Given the description of an element on the screen output the (x, y) to click on. 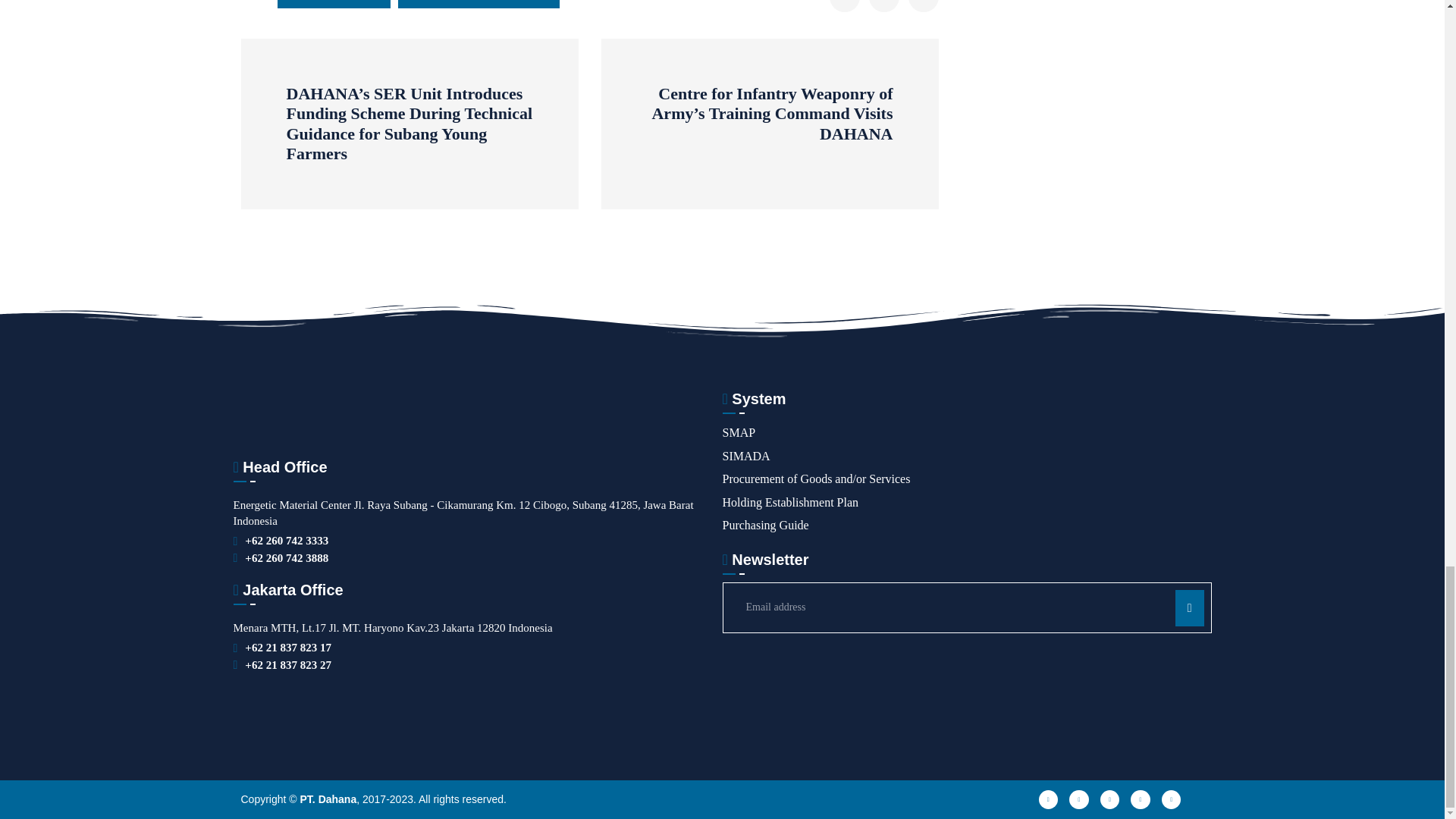
address (286, 540)
Head of Subang District Court Visits DAHANA Campus (844, 6)
Head of Subang District Court Visits DAHANA Campus (884, 6)
Head of Subang District Court Visits DAHANA Campus (923, 6)
address (287, 647)
